Given the description of an element on the screen output the (x, y) to click on. 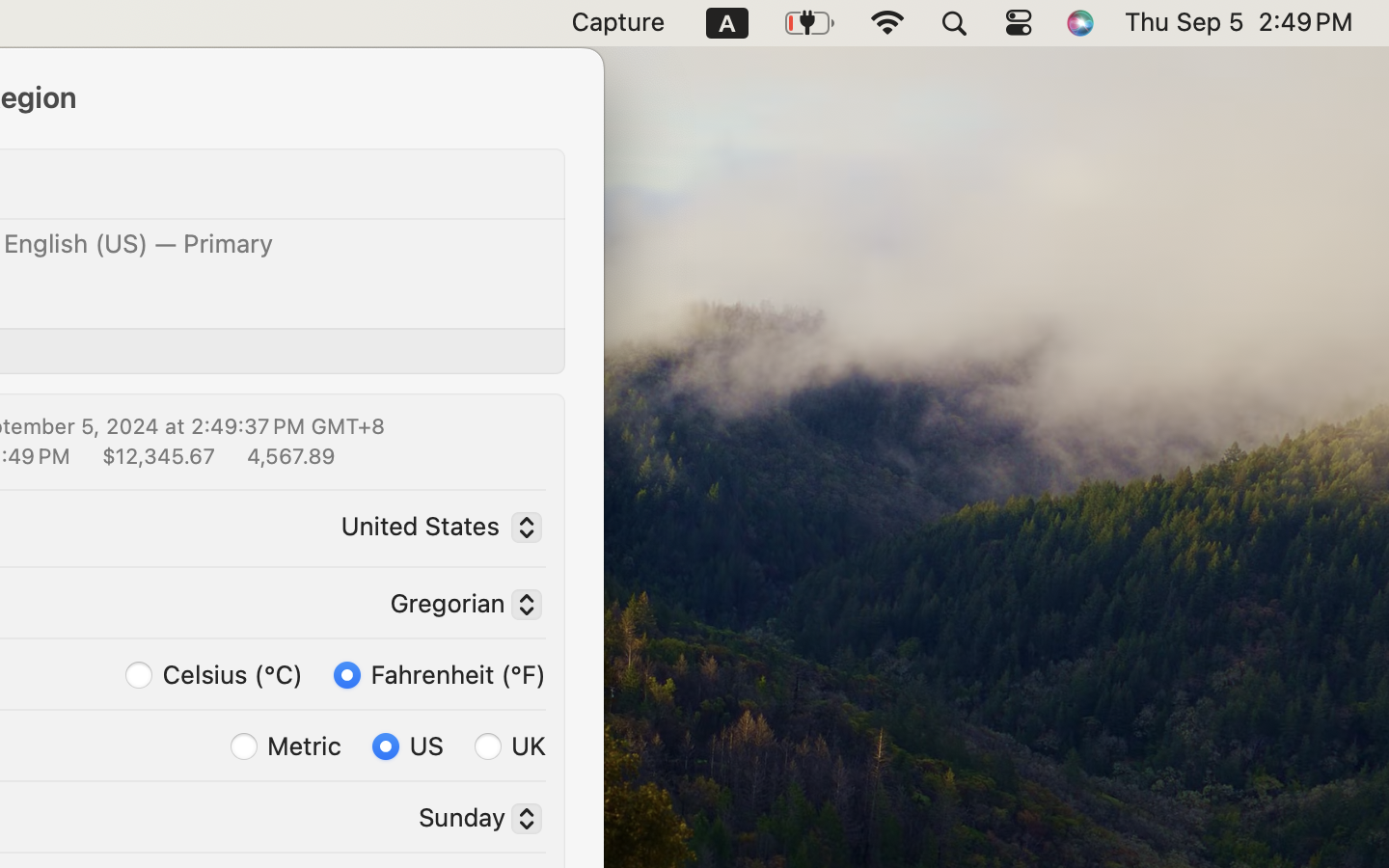
Gregorian Element type: AXPopUpButton (457, 606)
United States Element type: AXPopUpButton (435, 529)
4,567.89 Element type: AXStaticText (289, 454)
